Given the description of an element on the screen output the (x, y) to click on. 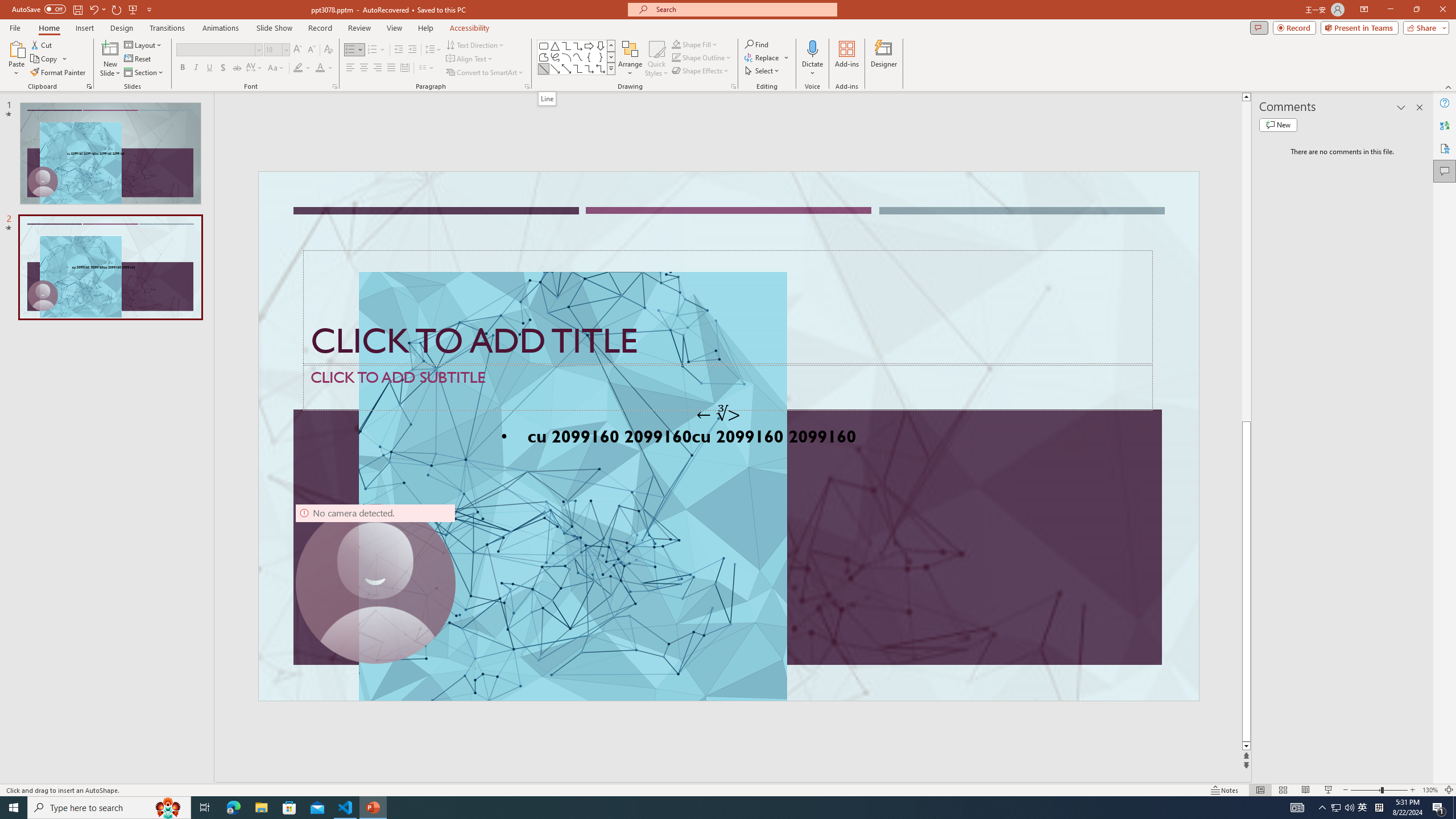
Line (547, 98)
Rectangle: Rounded Corners (543, 45)
Row Down (611, 56)
An abstract genetic concept (728, 436)
Shape Effects (700, 69)
Line Spacing (433, 49)
Justify (390, 67)
Notes  (1225, 790)
AutomationID: ShapesInsertGallery (576, 57)
Zoom to Fit  (1449, 790)
Font... (334, 85)
Arrow: Down (600, 45)
Shape Outline Green, Accent 1 (675, 56)
Quick Styles (656, 58)
Comments (1444, 170)
